Given the description of an element on the screen output the (x, y) to click on. 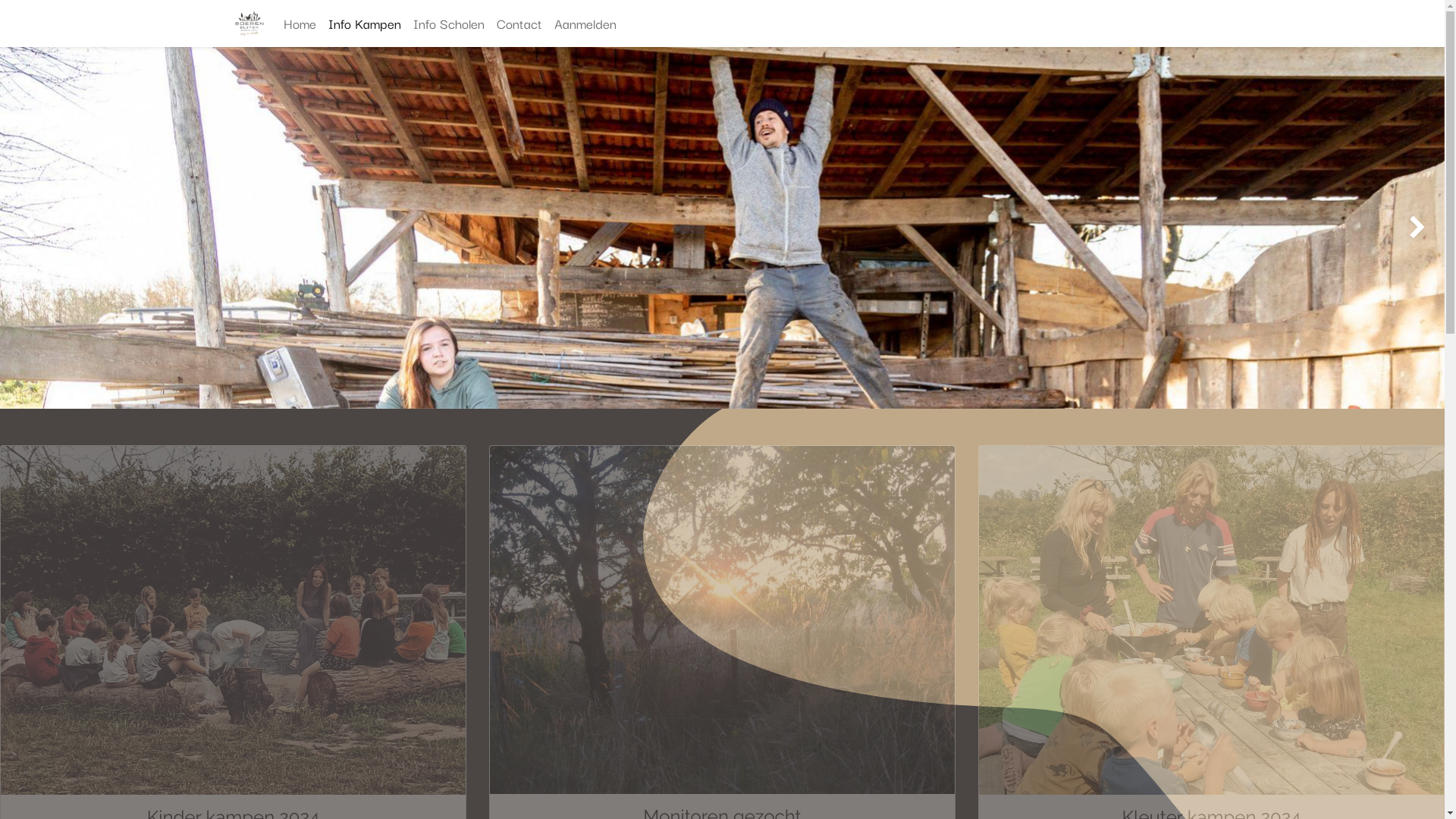
Home Element type: text (299, 23)
Info Kampen Element type: text (364, 23)
Aanmelden Element type: text (585, 23)
Info Scholen Element type: text (448, 23)
Contact Element type: text (519, 23)
BoerEnBuiten Element type: hover (249, 23)
Vorige Element type: text (57, 89)
